Given the description of an element on the screen output the (x, y) to click on. 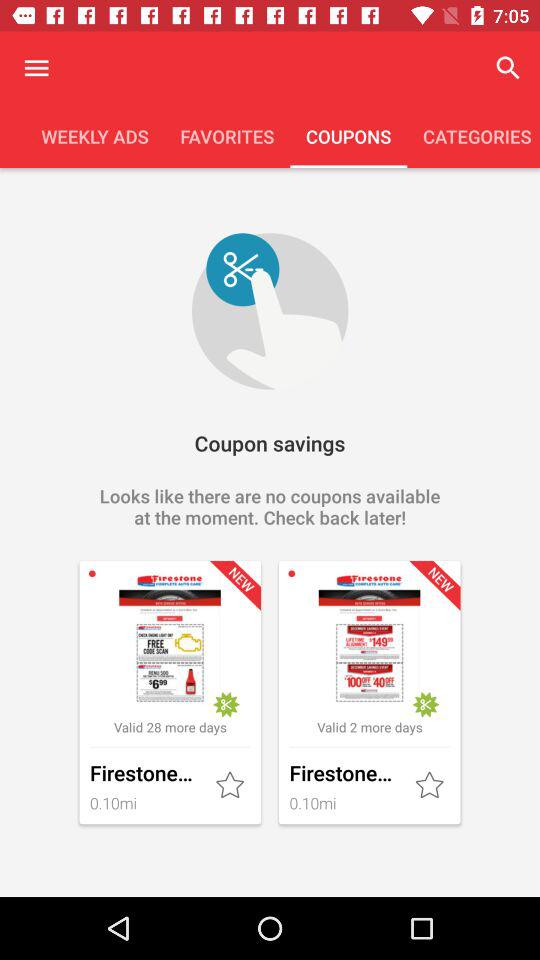
options button (36, 68)
